Given the description of an element on the screen output the (x, y) to click on. 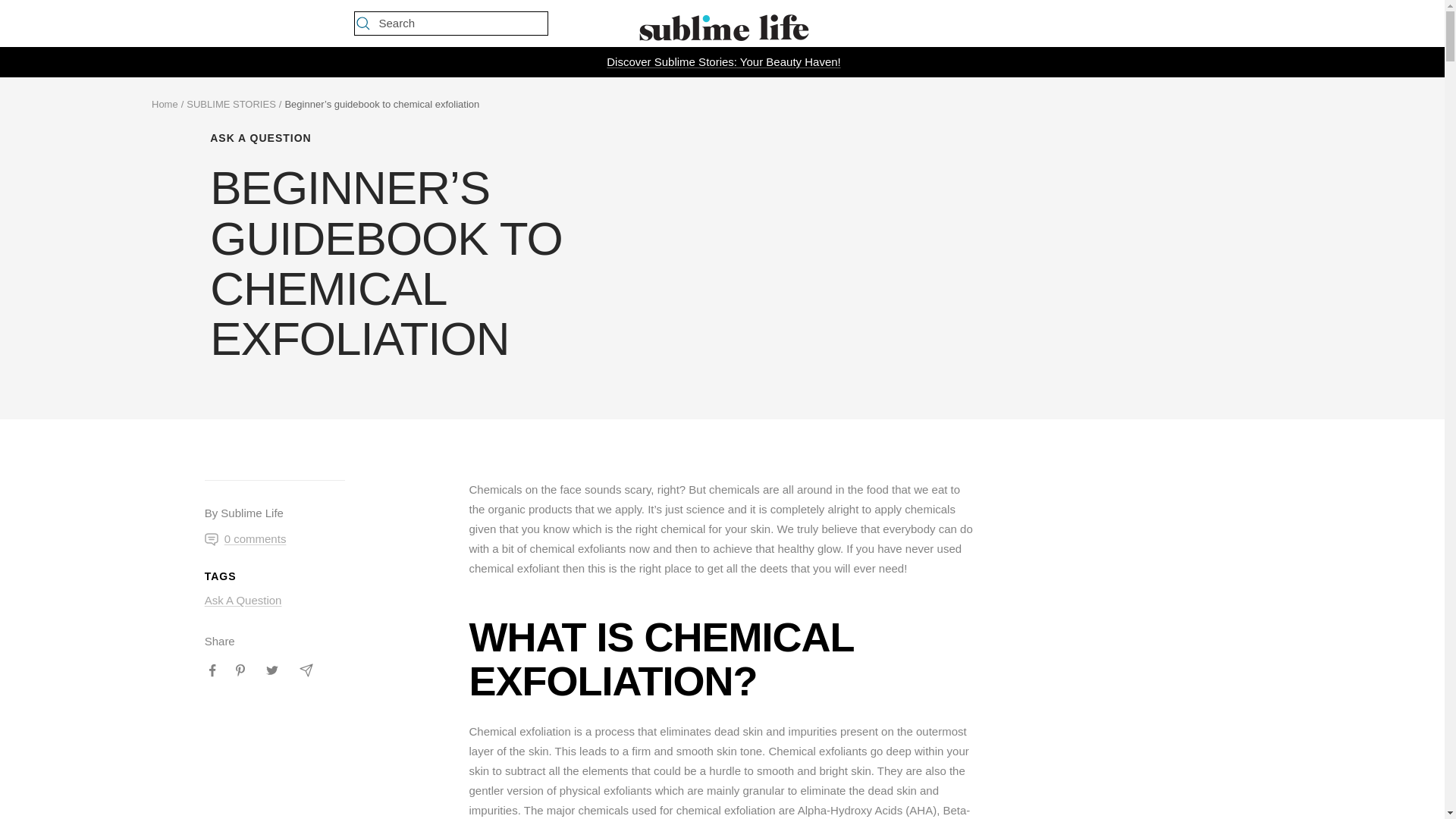
Sublime Life (721, 23)
ASK A QUESTION (438, 137)
Ask A Question (243, 599)
Home (164, 103)
0 comments (245, 538)
Discover Sublime Stories: Your Beauty Haven! (724, 62)
SUBLIME STORIES (231, 103)
